Given the description of an element on the screen output the (x, y) to click on. 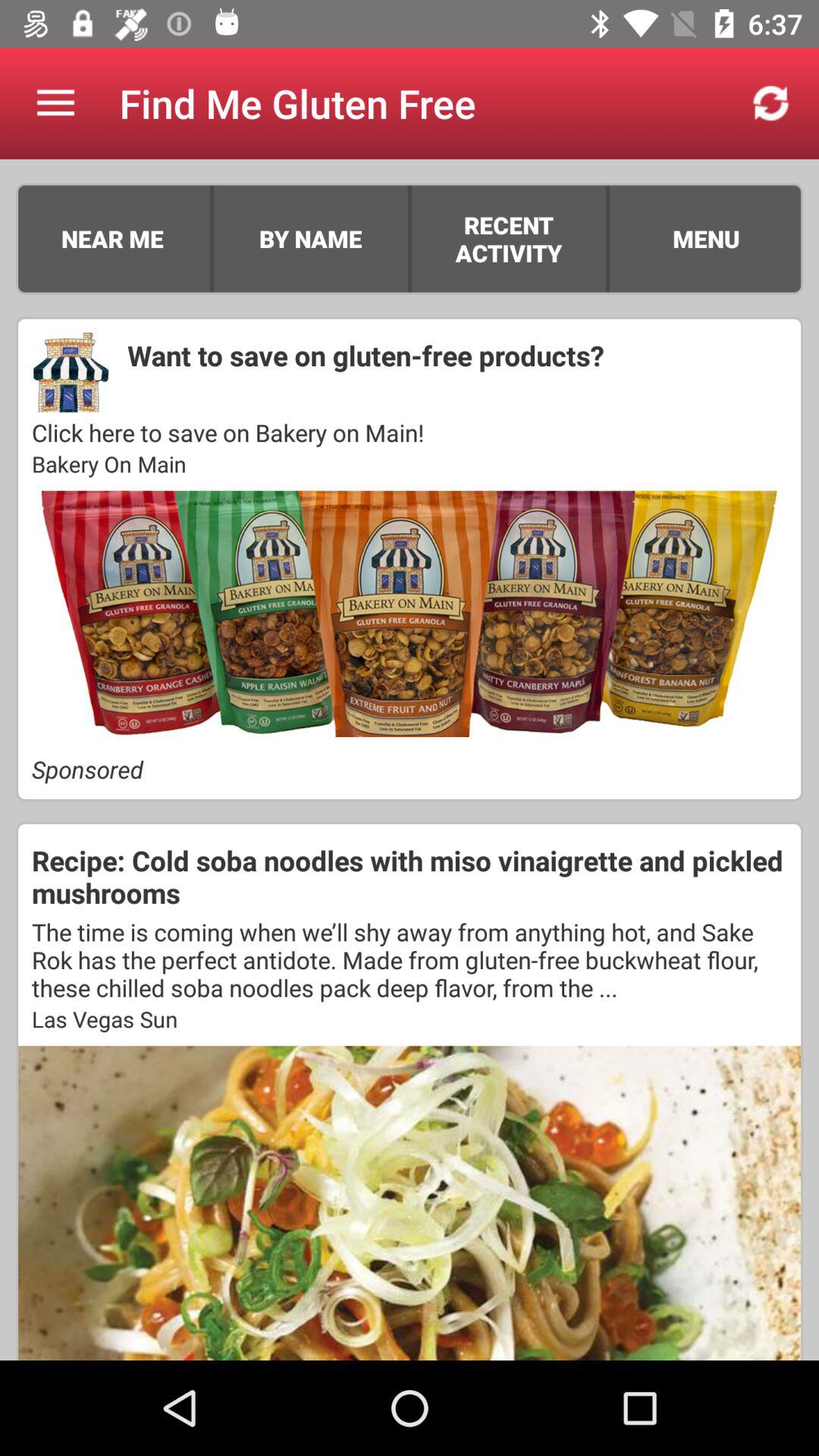
swipe to menu (706, 238)
